Given the description of an element on the screen output the (x, y) to click on. 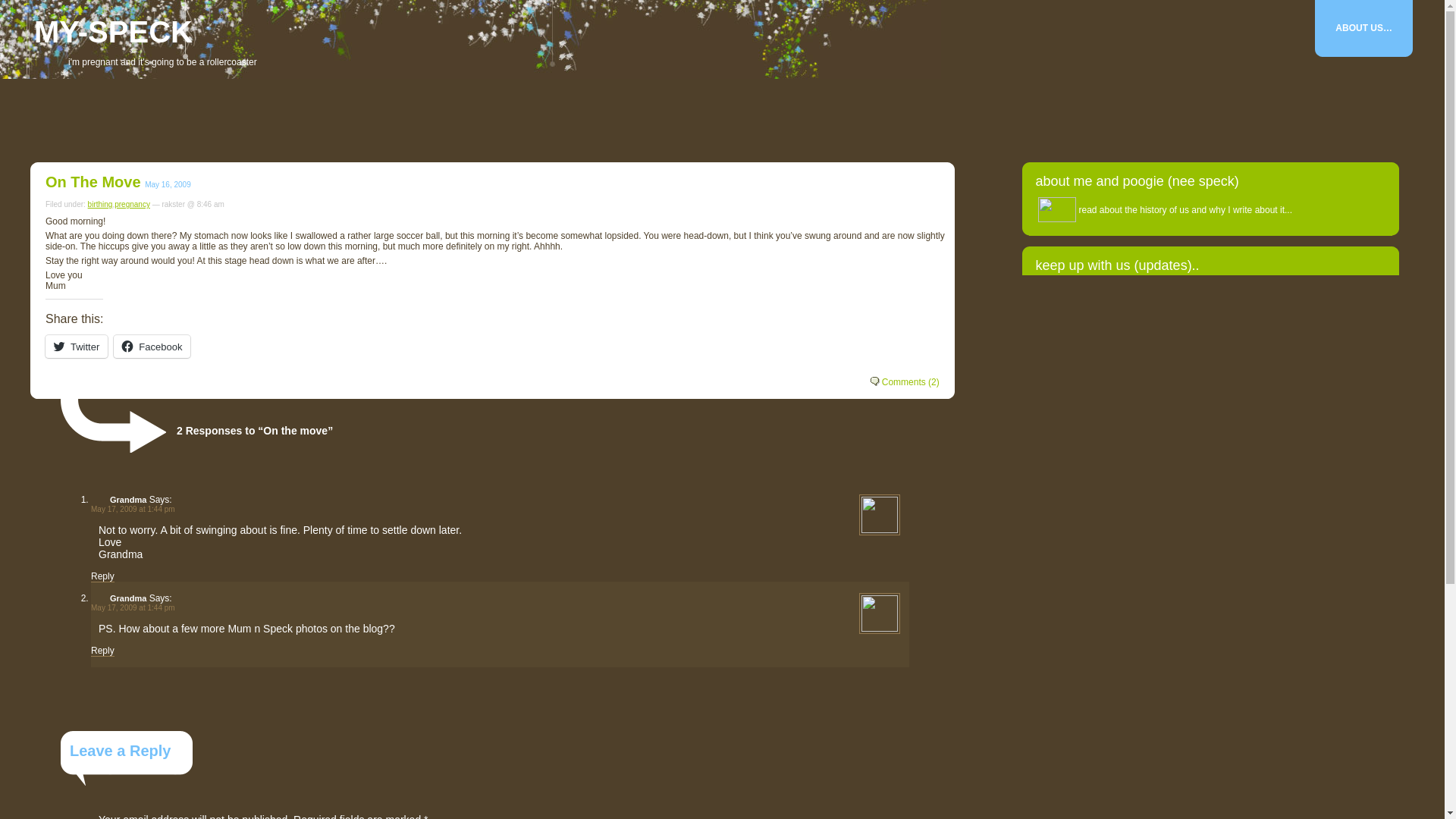
Reply (102, 576)
birthing (100, 203)
Reply (102, 650)
Click to share on Twitter (76, 345)
May 17, 2009 at 1:44 pm (132, 607)
Twitter (76, 345)
Facebook (151, 345)
Click to share on Facebook (151, 345)
MY-SPECK (112, 31)
pregnancy (132, 203)
